Given the description of an element on the screen output the (x, y) to click on. 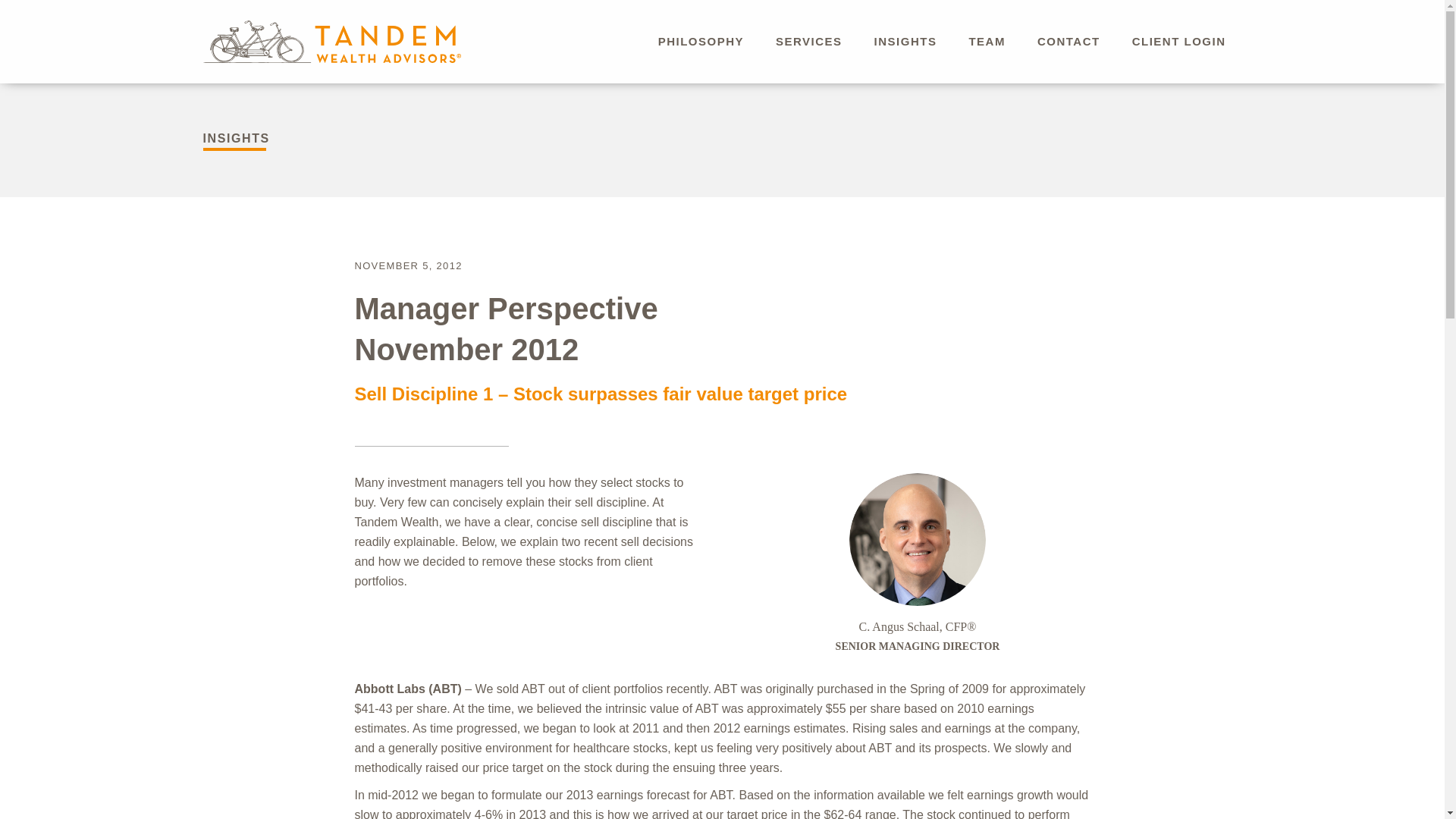
CONTACT (1069, 41)
TEAM (987, 41)
SERVICES (809, 41)
PHILOSOPHY (701, 41)
CLIENT LOGIN (1178, 41)
INSIGHTS (906, 41)
